Given the description of an element on the screen output the (x, y) to click on. 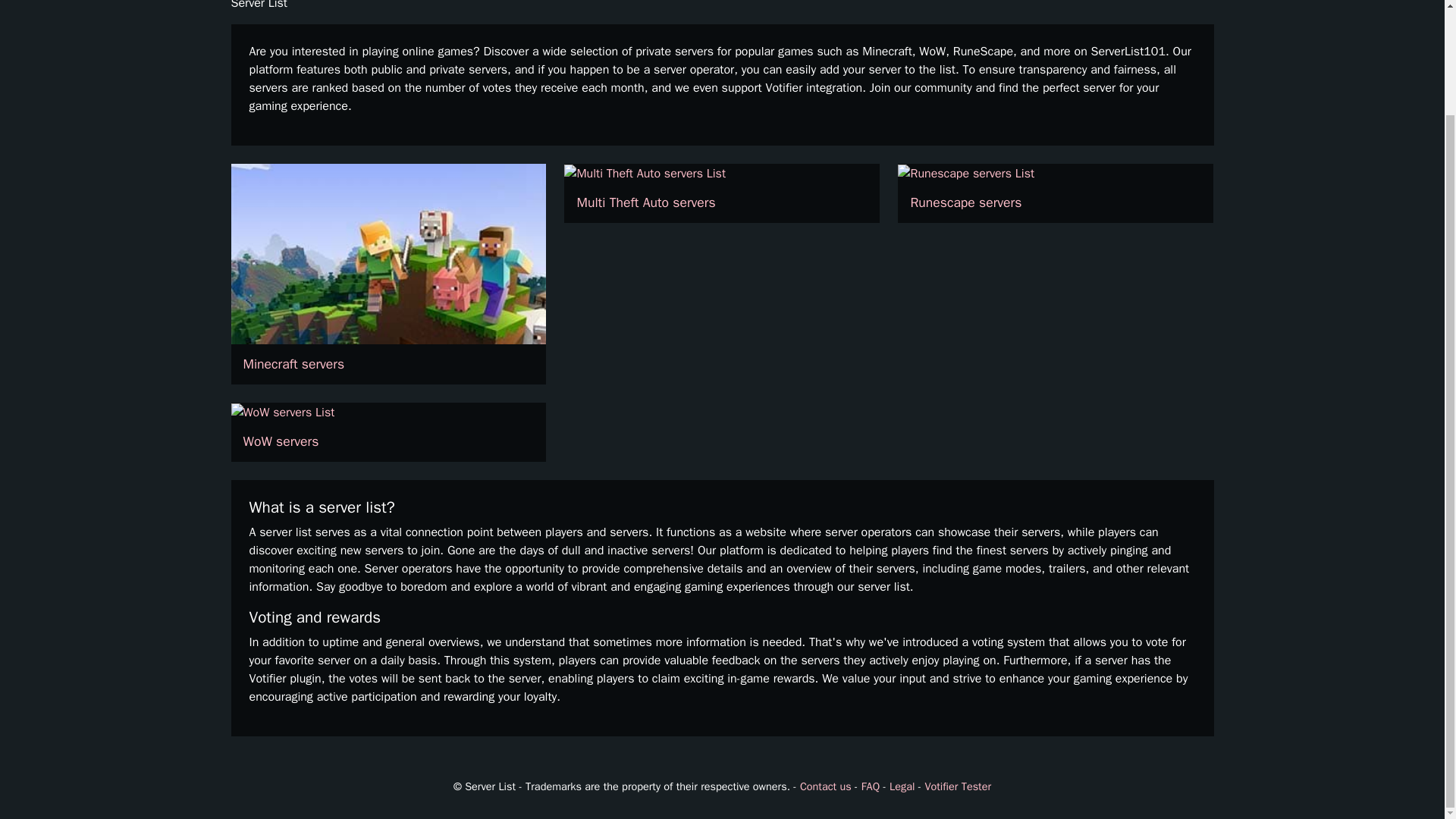
WoW servers (388, 431)
Legal (901, 786)
Multi Theft Auto servers (721, 192)
Votifier Tester (957, 786)
FAQ (870, 786)
Runescape servers (1055, 192)
Contact us (825, 786)
Minecraft servers (388, 273)
